Given the description of an element on the screen output the (x, y) to click on. 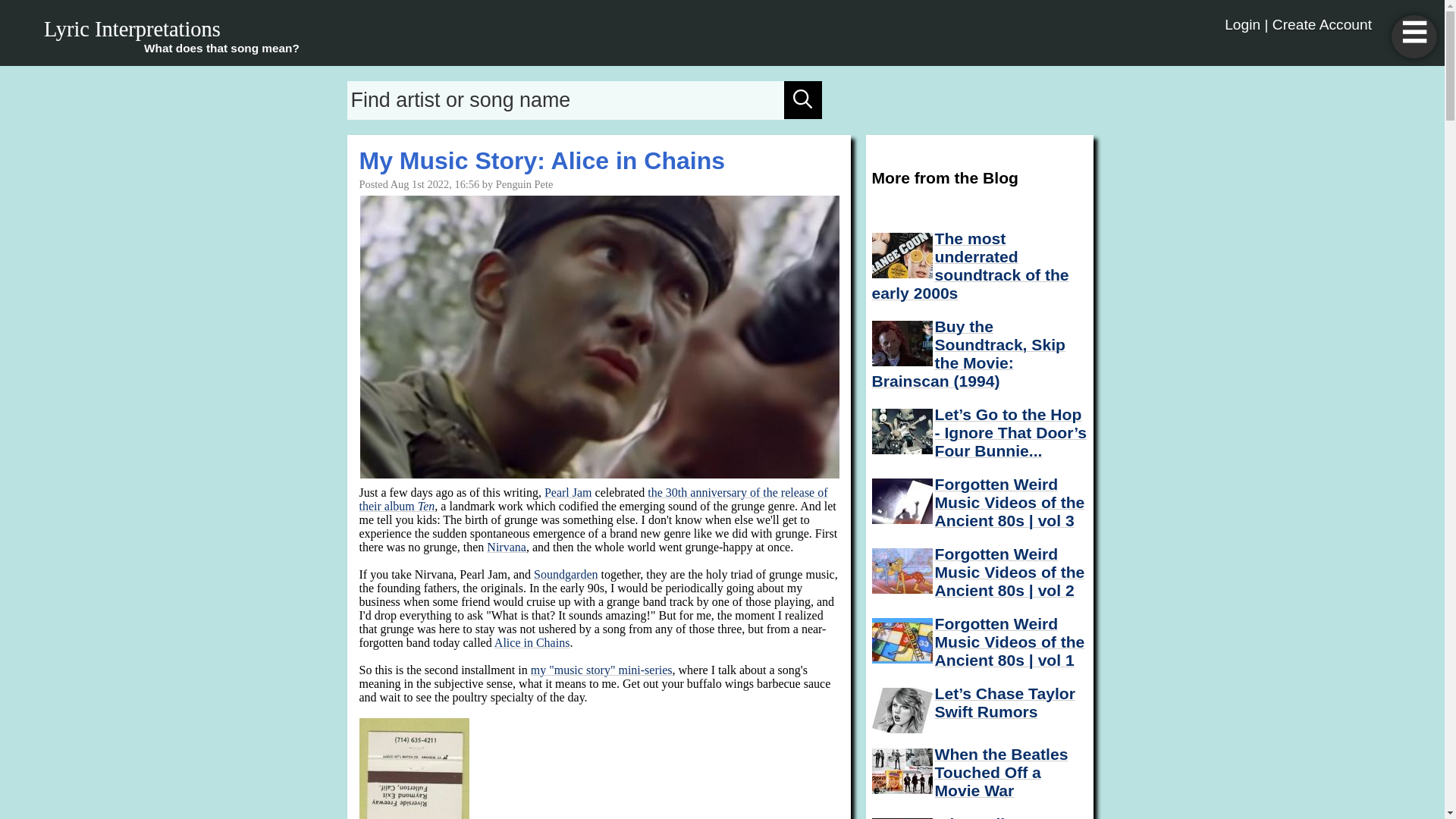
the 30th anniversary of the release of their album Ten (593, 499)
The most underrated soundtrack of the early 2000s (970, 266)
my "music story" mini-series (601, 669)
The most underrated soundtrack of the early 2000s (902, 255)
Nirvana (505, 546)
Login (1242, 24)
When Mike Bloomfield Composed a Soundtrack For Andy Warhol (902, 818)
Pearl Jam (568, 492)
Create Account (1321, 24)
Soundgarden (565, 574)
